Given the description of an element on the screen output the (x, y) to click on. 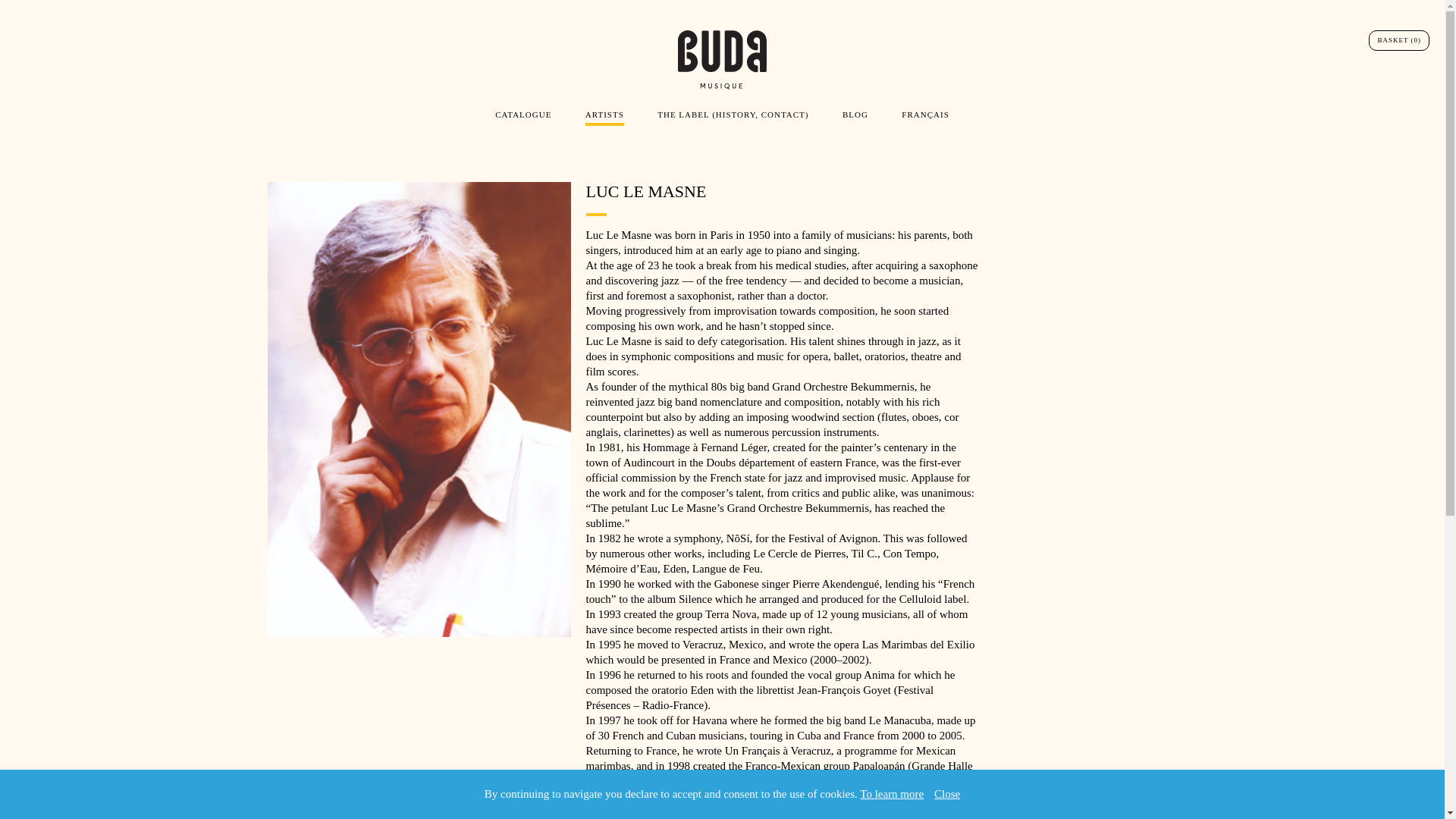
To learn more (891, 793)
BLOG (855, 115)
CATALOGUE (523, 115)
Buda Musique (721, 60)
ARTISTS (604, 117)
